Given the description of an element on the screen output the (x, y) to click on. 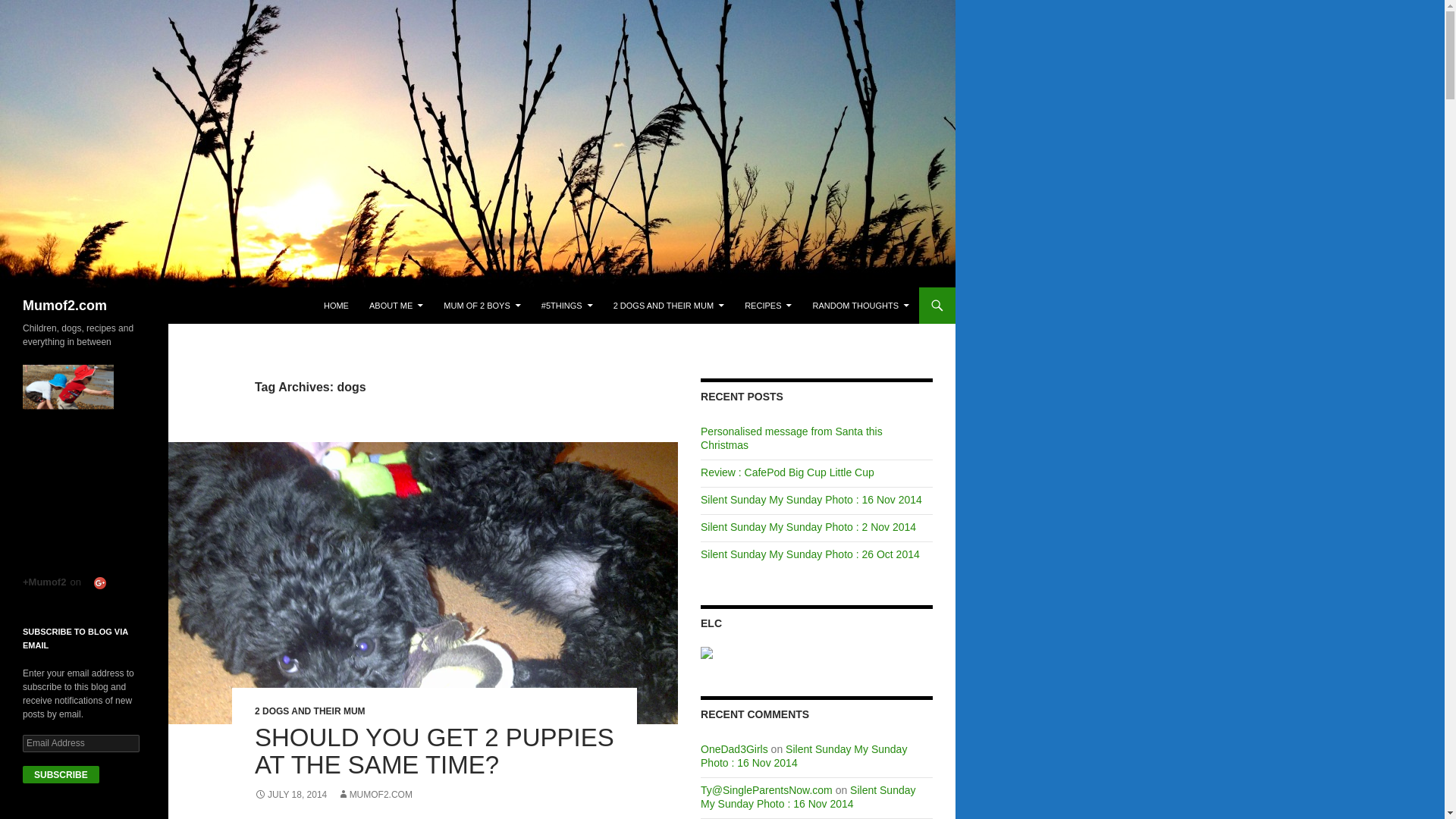
Subscribe (61, 773)
Search (23, 296)
Mumof2.com (64, 305)
JULY 18, 2014 (290, 794)
2 DOGS AND THEIR MUM (309, 710)
SKIP TO CONTENT (360, 293)
MUM OF 2 BOYS (481, 305)
MUMOF2.COM (374, 794)
RANDOM THOUGHTS (860, 305)
SHOULD YOU GET 2 PUPPIES AT THE SAME TIME? (434, 750)
